Given the description of an element on the screen output the (x, y) to click on. 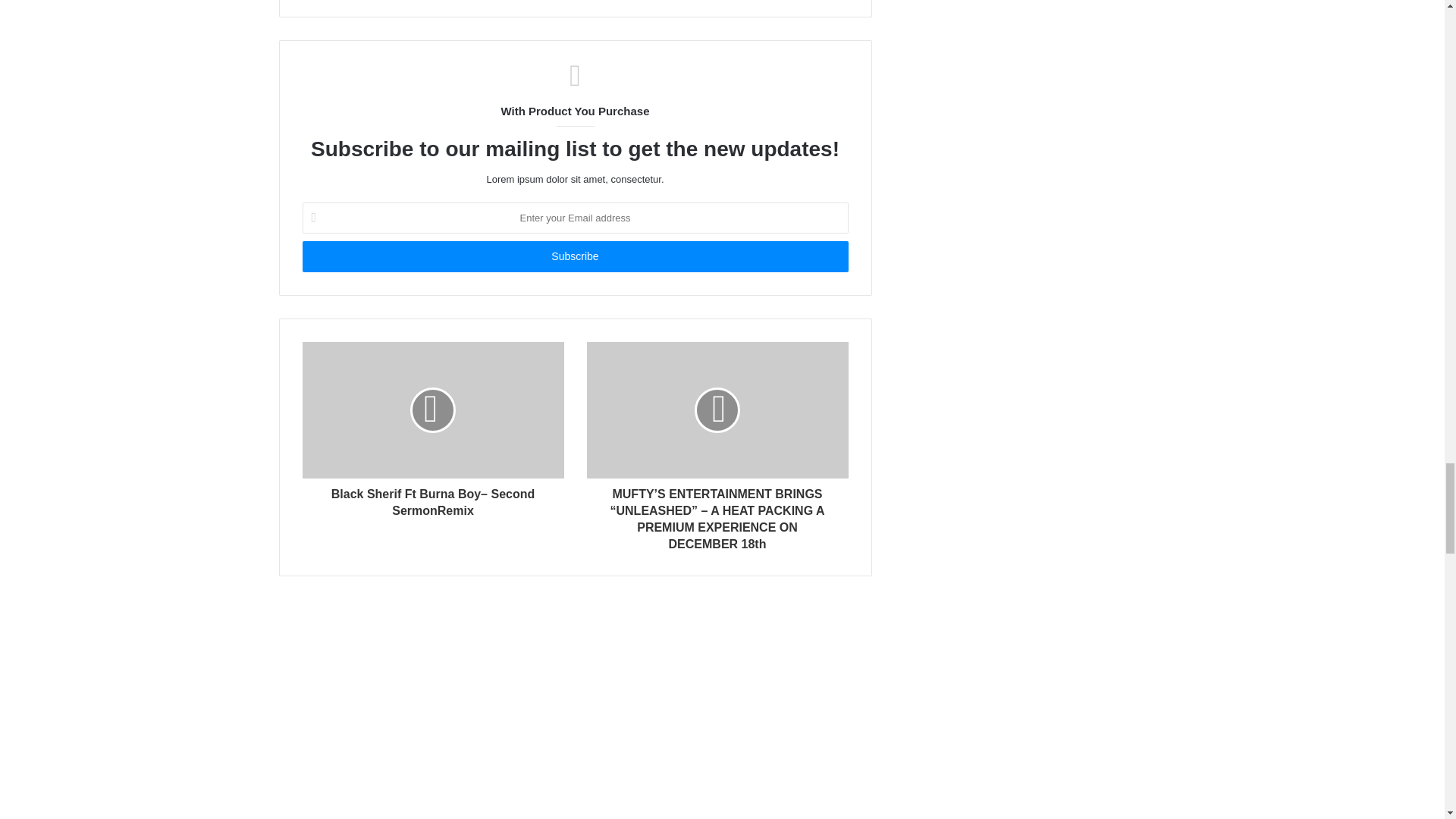
Subscribe (574, 255)
